Given the description of an element on the screen output the (x, y) to click on. 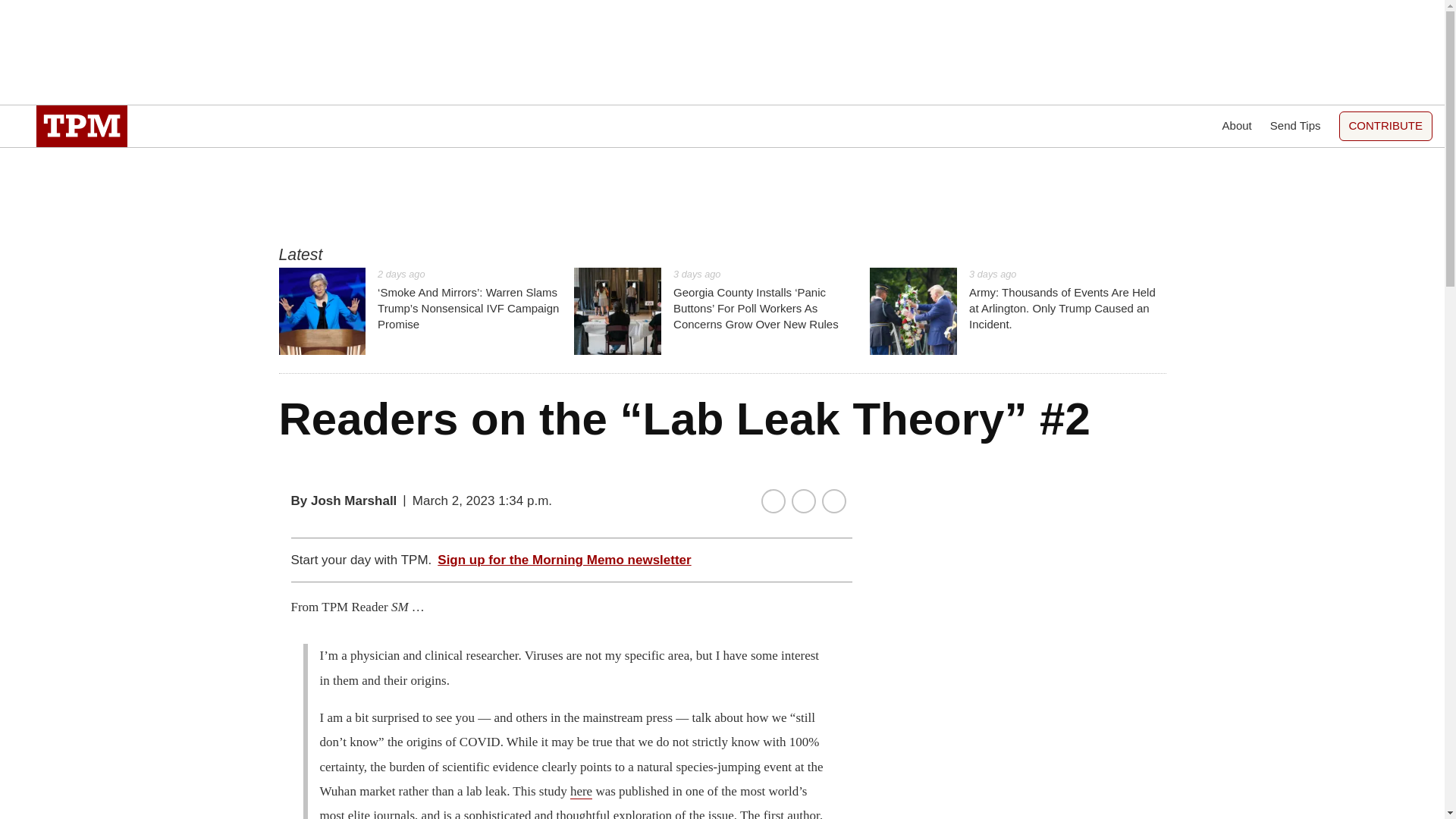
Send Tips (1294, 125)
Sign up for the Morning Memo newsletter (564, 560)
About (1237, 125)
Josh Marshall (353, 500)
Posts by Josh Marshall (353, 500)
CONTRIBUTE (1385, 125)
here (581, 791)
